Given the description of an element on the screen output the (x, y) to click on. 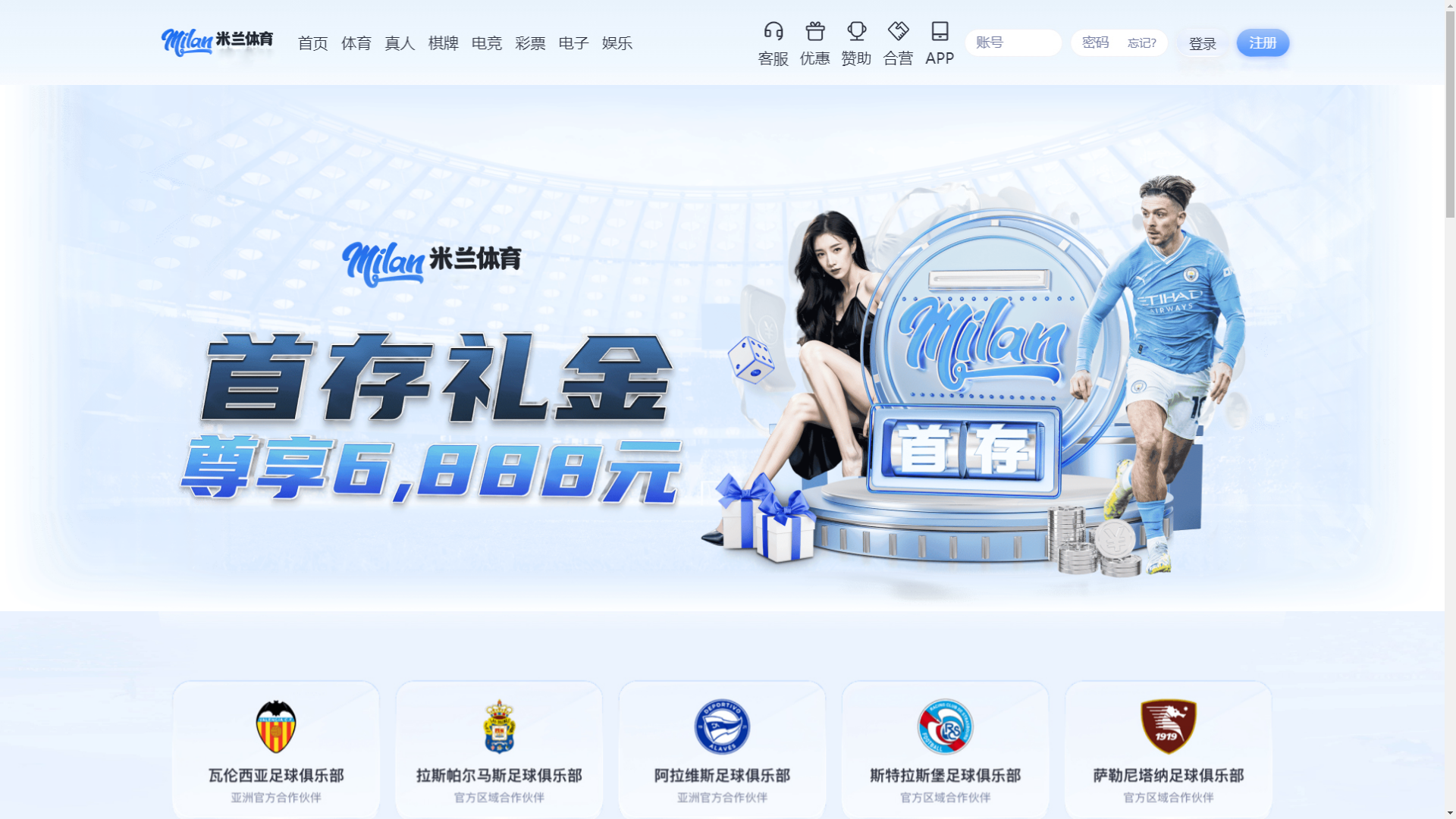
Schedule Demo (1020, 30)
Solutions (1214, 31)
